Given the description of an element on the screen output the (x, y) to click on. 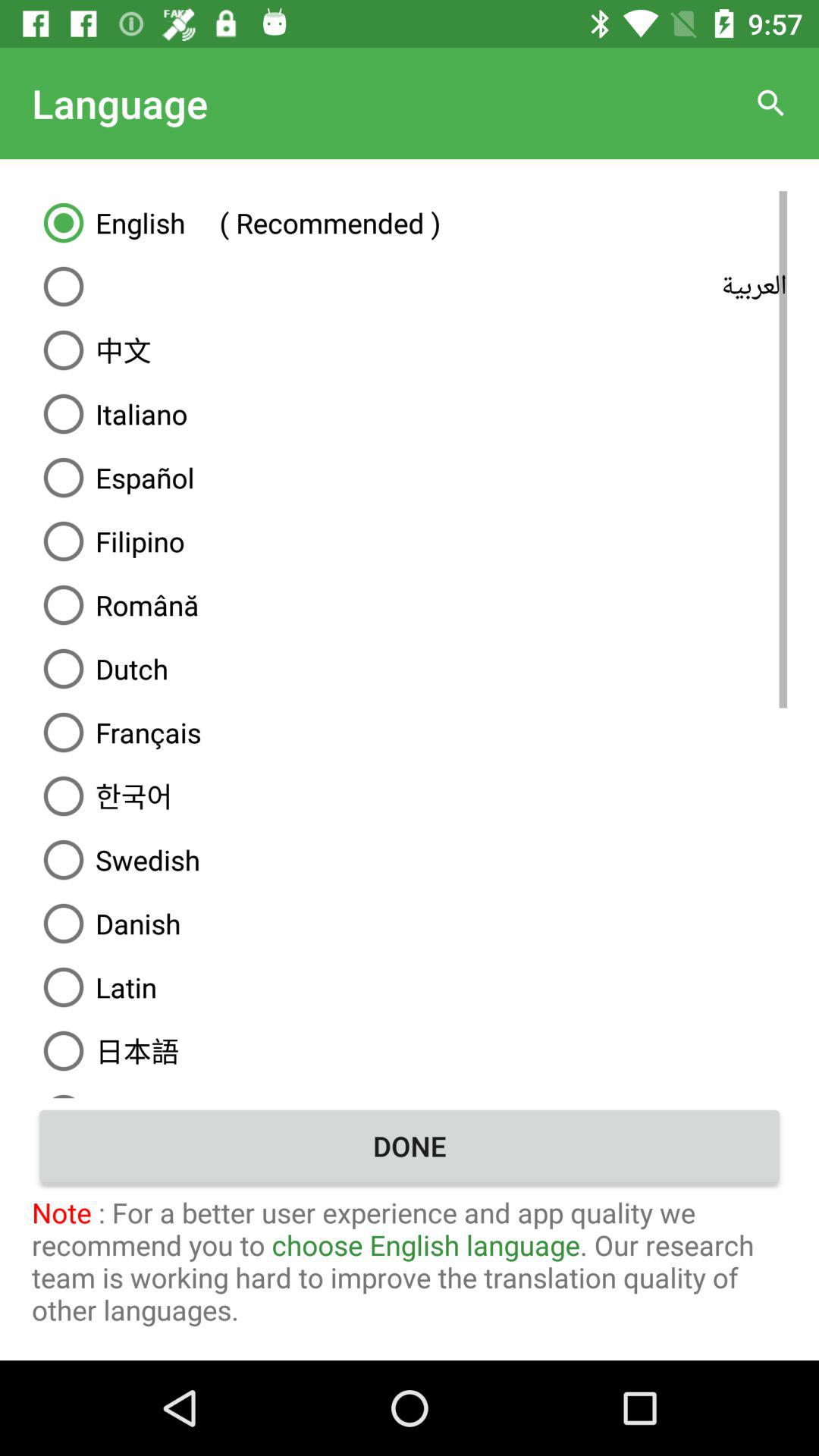
open danish (409, 923)
